Given the description of an element on the screen output the (x, y) to click on. 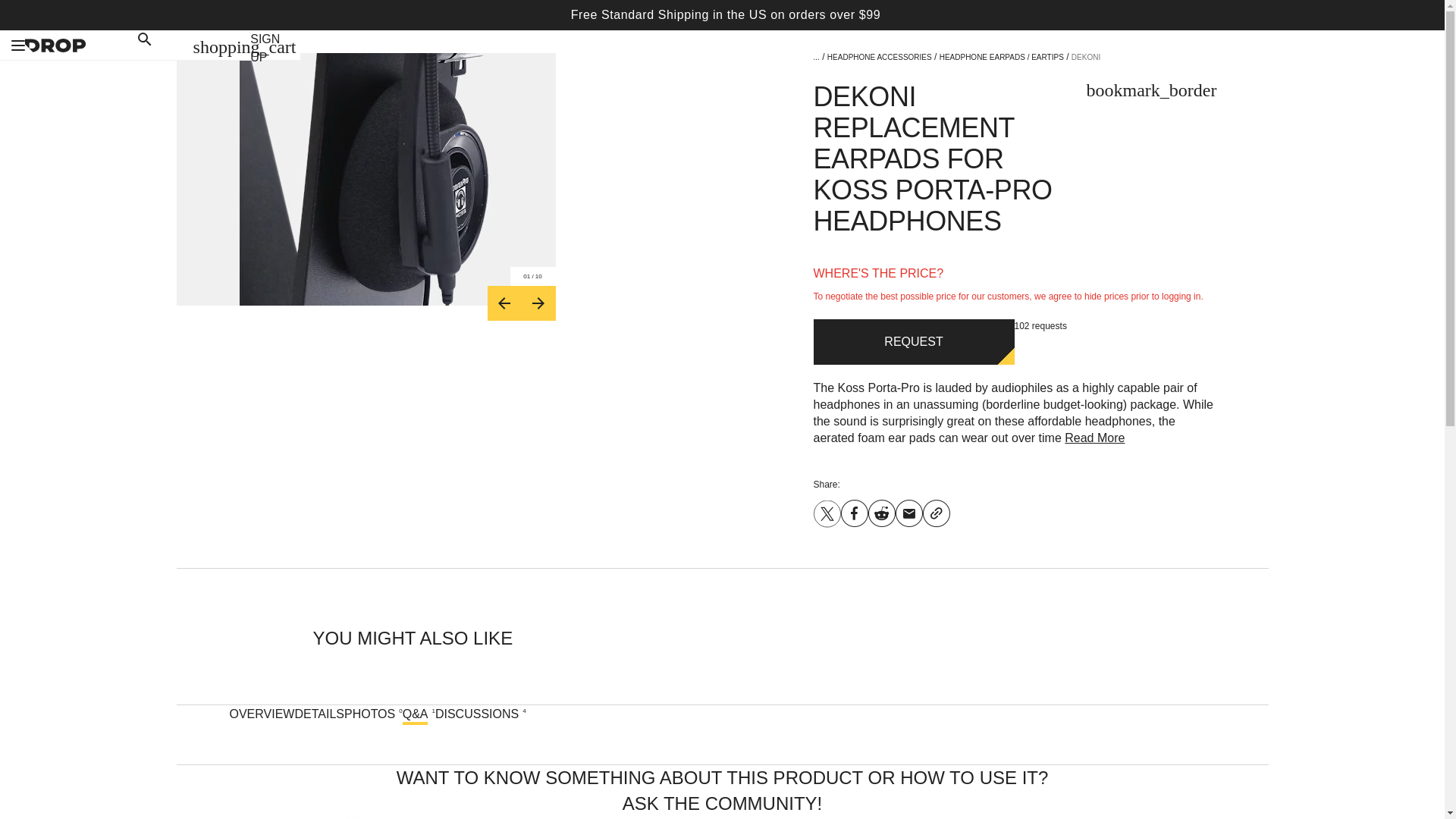
SIGN UP (264, 47)
HEADPHONE ACCESSORIES (879, 57)
DEKONI (1085, 57)
- (538, 303)
- (503, 303)
